Given the description of an element on the screen output the (x, y) to click on. 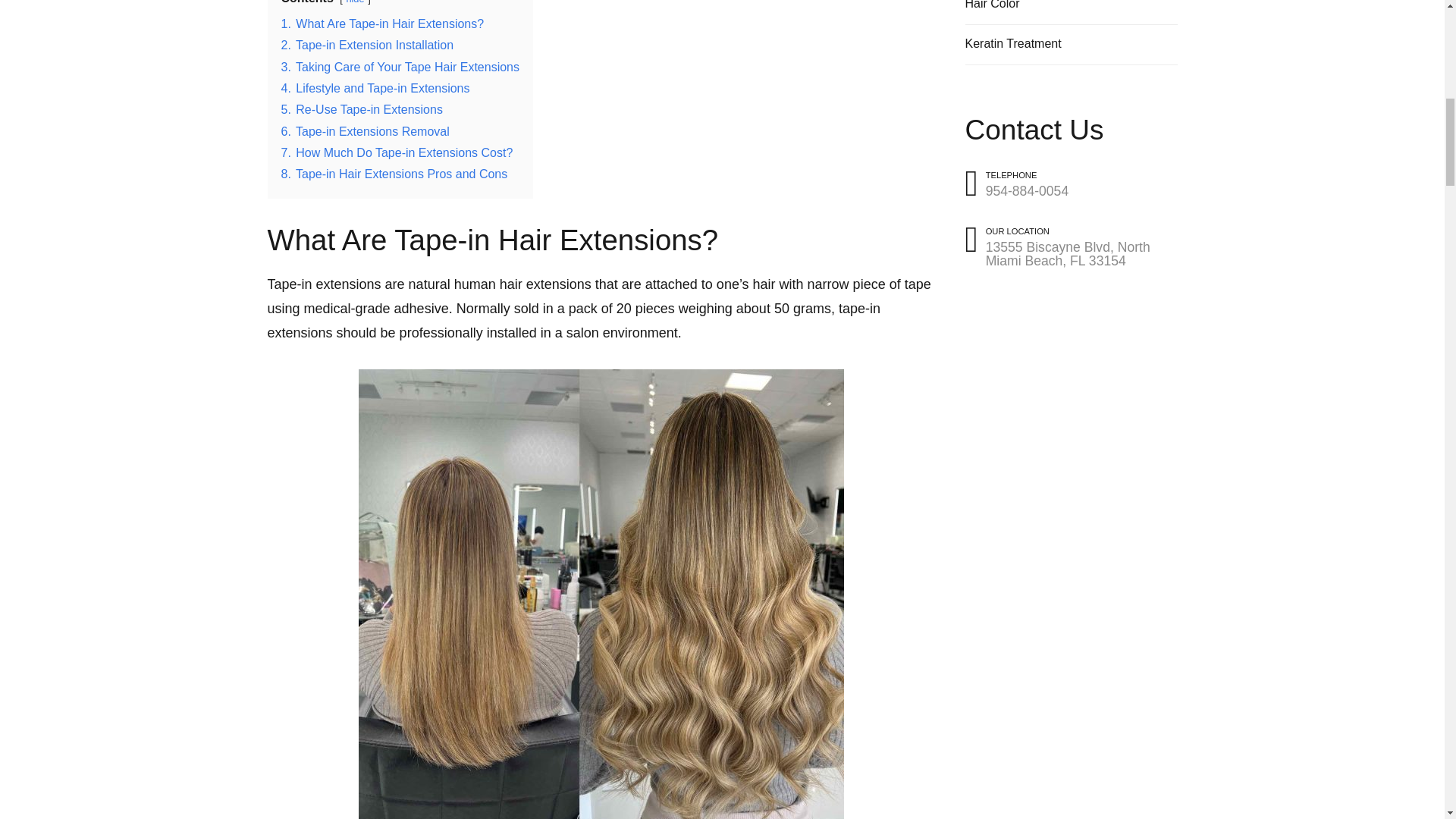
hide (355, 2)
6. Tape-in Extensions Removal (364, 131)
8. Tape-in Hair Extensions Pros and Cons (393, 173)
7. How Much Do Tape-in Extensions Cost? (396, 152)
2. Tape-in Extension Installation (366, 44)
3. Taking Care of Your Tape Hair Extensions (400, 66)
5. Re-Use Tape-in Extensions (361, 109)
1. What Are Tape-in Hair Extensions? (382, 23)
4. Lifestyle and Tape-in Extensions (374, 88)
